Given the description of an element on the screen output the (x, y) to click on. 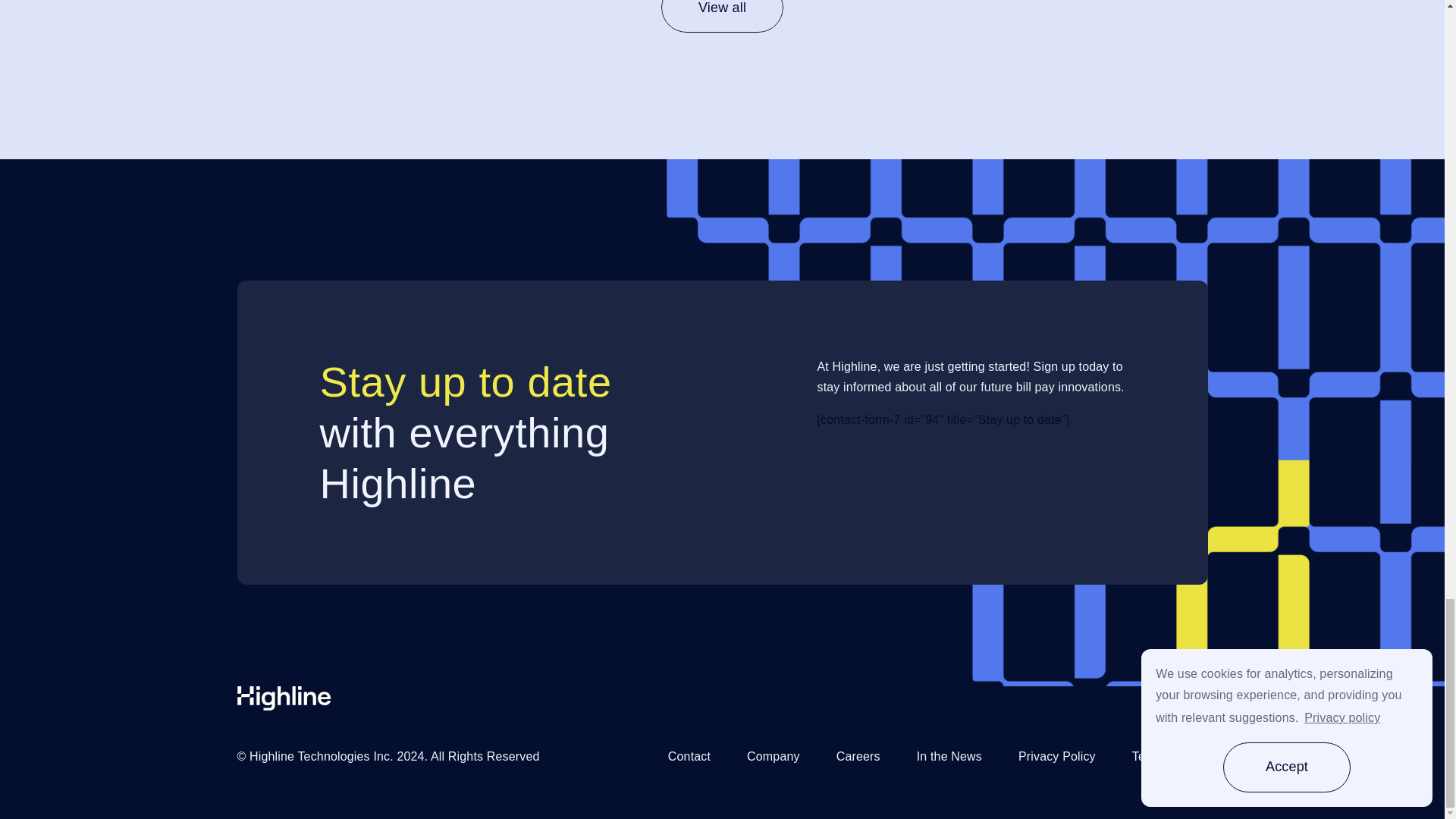
Contact (689, 756)
View all (722, 16)
Terms Of Use (1170, 756)
Careers (857, 756)
Company (772, 756)
Privacy Policy (1056, 756)
In the News (949, 756)
